Given the description of an element on the screen output the (x, y) to click on. 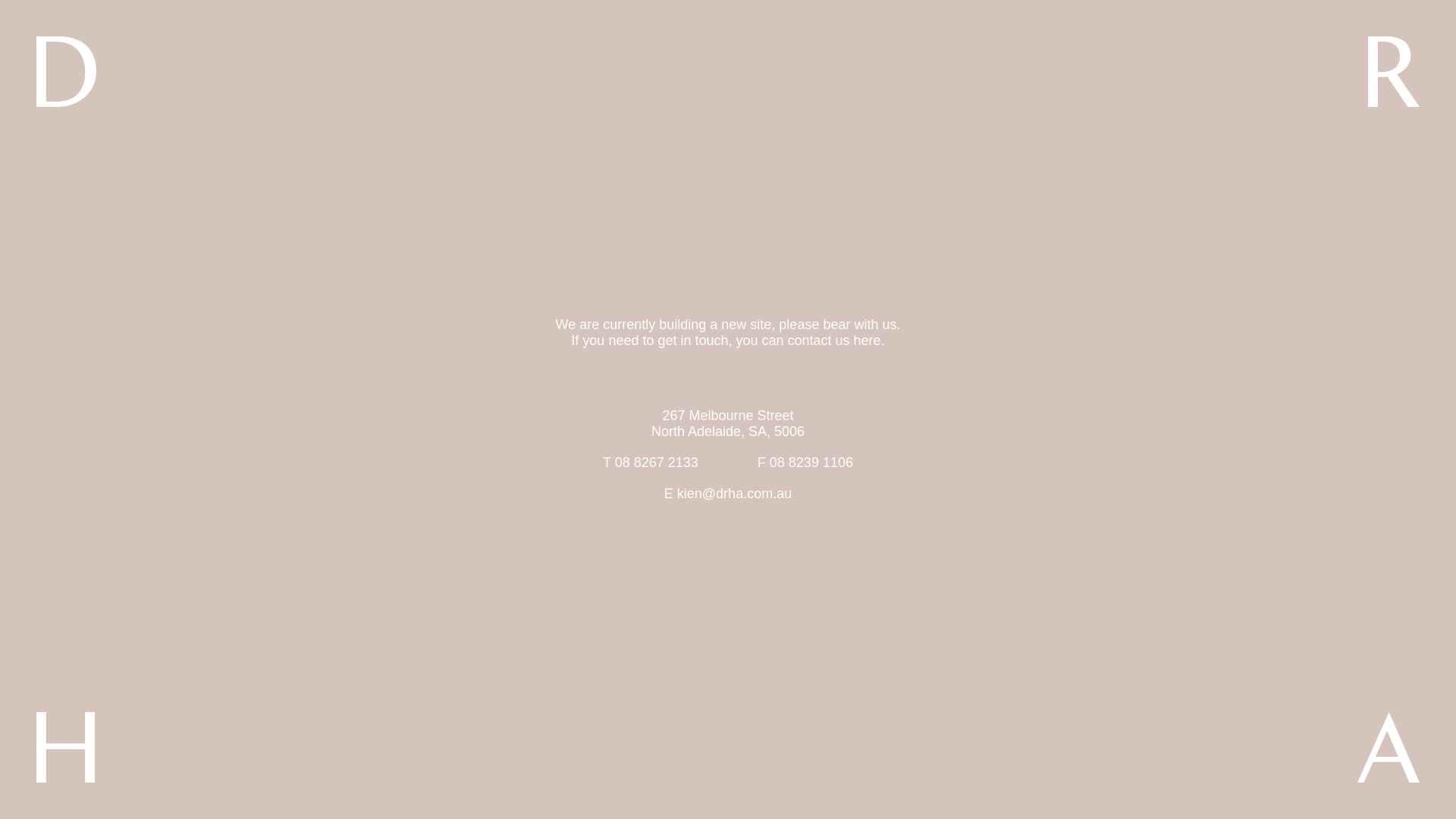
E kien@drha.com.au Element type: text (727, 493)
F 08 8239 1106 Element type: text (805, 462)
T 08 8267 2133 Element type: text (650, 462)
